Given the description of an element on the screen output the (x, y) to click on. 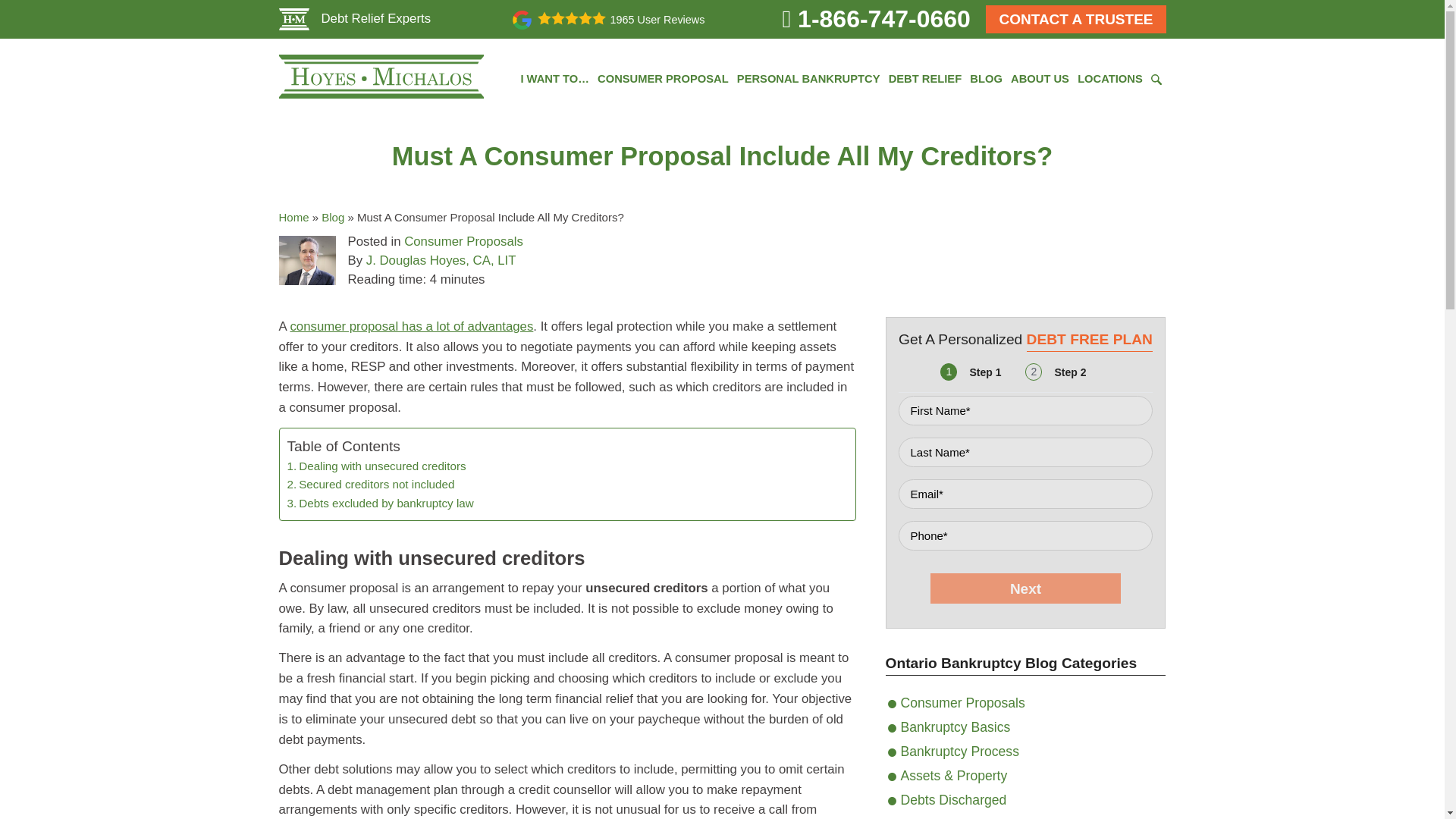
Secured creditors not included (370, 484)
Debts excluded by bankruptcy law (379, 503)
PERSONAL BANKRUPTCY (808, 78)
consumer proposal has a lot of advantages (410, 326)
Home (293, 216)
J. Douglas Hoyes, CA, LIT (441, 260)
BLOG (986, 78)
Posts by J. Douglas Hoyes, CA, LIT (441, 260)
ABOUT US (1039, 78)
Debt Relief Experts (354, 18)
1965 User Reviews (608, 18)
Dealing with unsecured creditors (375, 466)
DEBT RELIEF (925, 78)
CONTACT A TRUSTEE (1075, 18)
Debts excluded by bankruptcy law (379, 503)
